Given the description of an element on the screen output the (x, y) to click on. 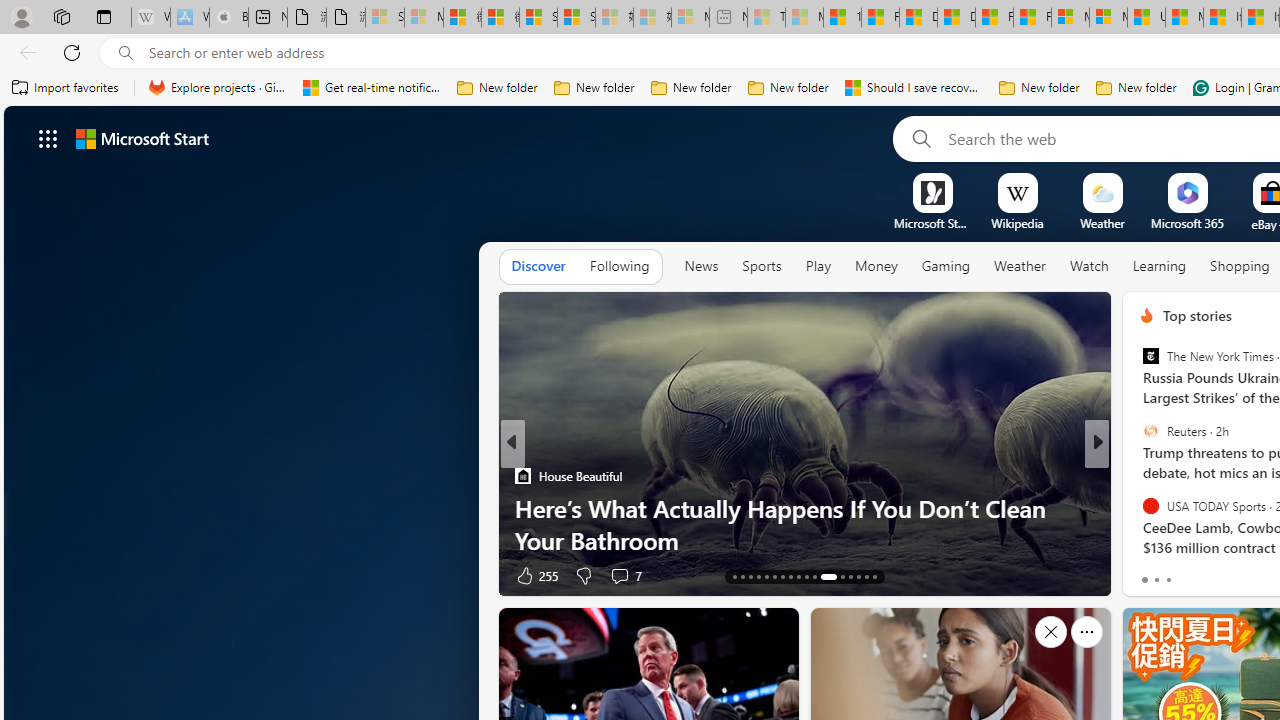
View comments 7 Comment (1229, 575)
AutomationID: tab-24 (827, 576)
AutomationID: tab-30 (850, 576)
